Given the description of an element on the screen output the (x, y) to click on. 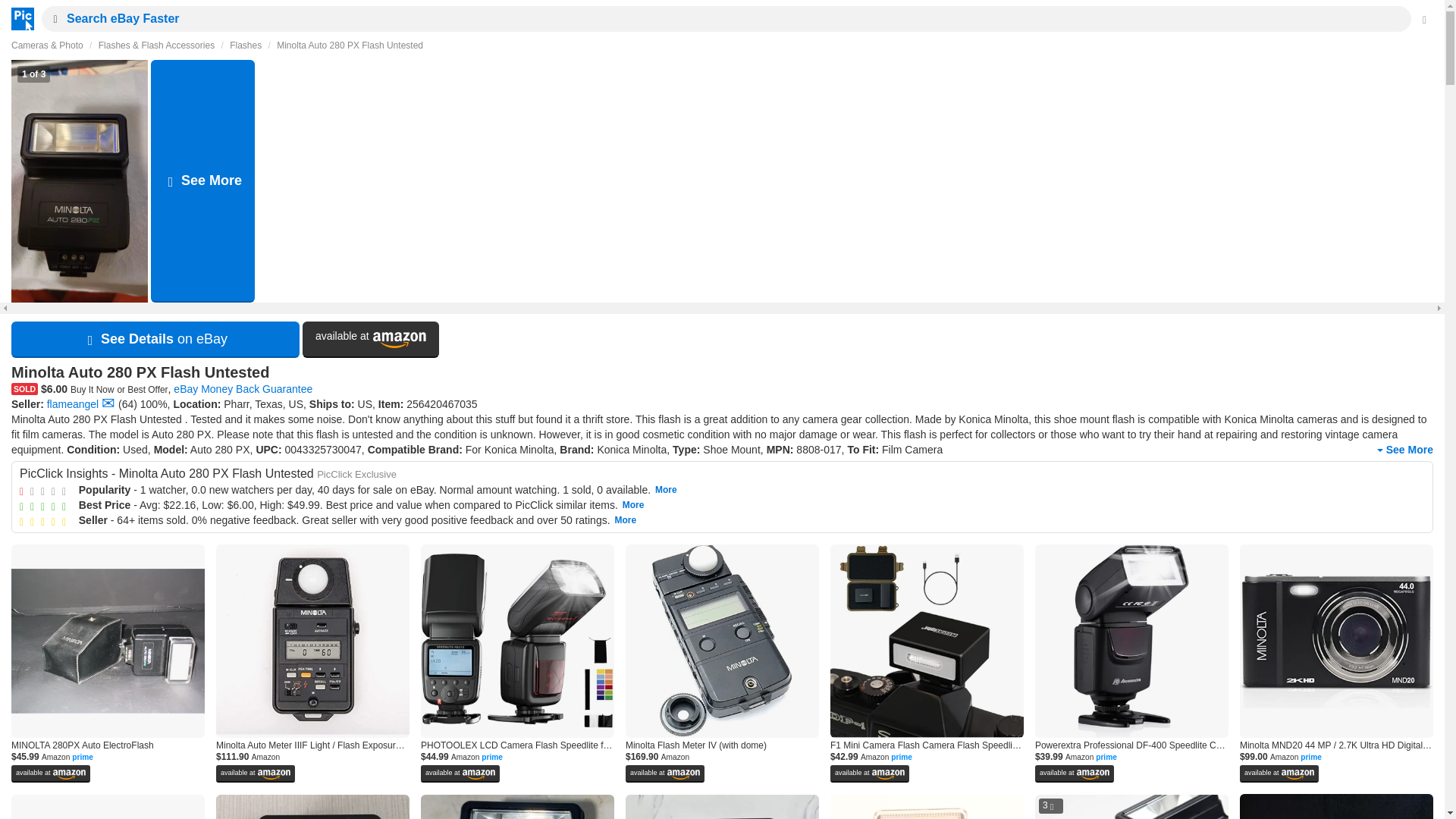
64 Positive Ratings (126, 404)
eBay Money Back Guarantee (243, 388)
flameangel (72, 404)
PicClick (18, 18)
See More (1403, 450)
eBay Item Number (441, 404)
Minolta Auto 280 PX Flash Untested (349, 45)
PicClick Exclusive (356, 473)
See Details on eBay (155, 339)
available at Amazon (370, 339)
